Given the description of an element on the screen output the (x, y) to click on. 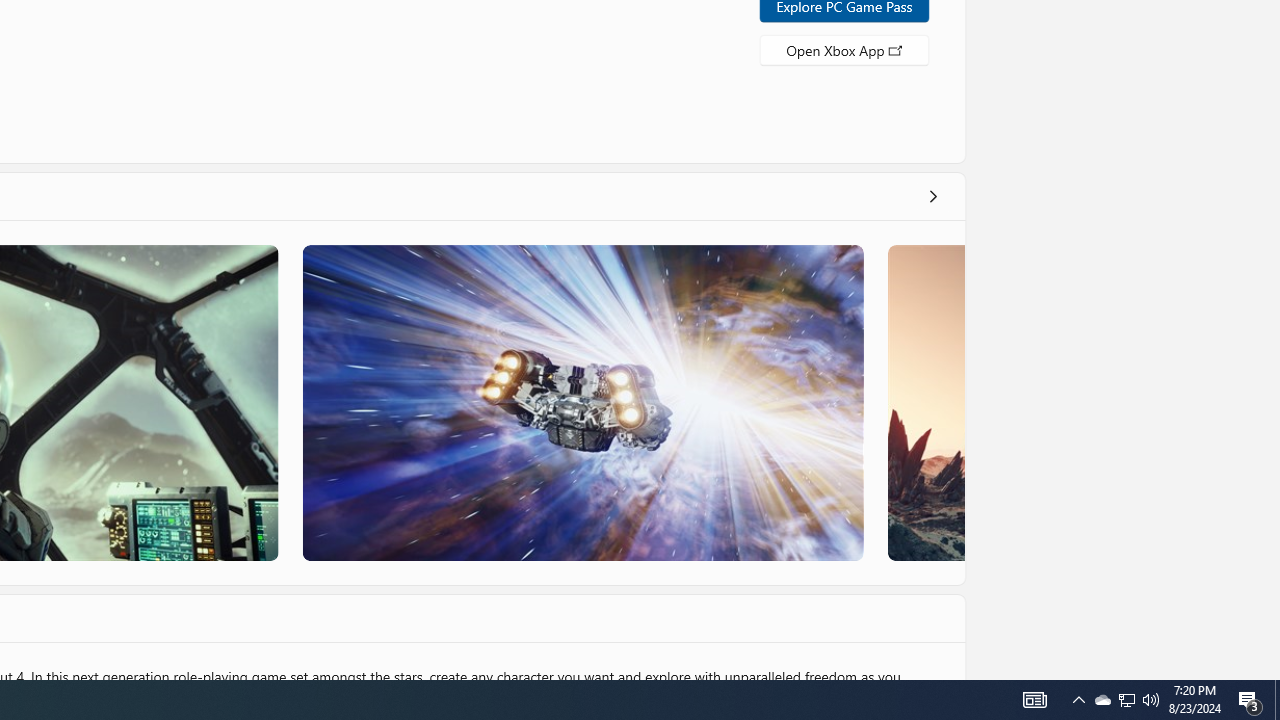
Screenshot 3 (582, 402)
Screenshot 4 (925, 402)
Open Xbox App (844, 48)
See all (932, 195)
